Given the description of an element on the screen output the (x, y) to click on. 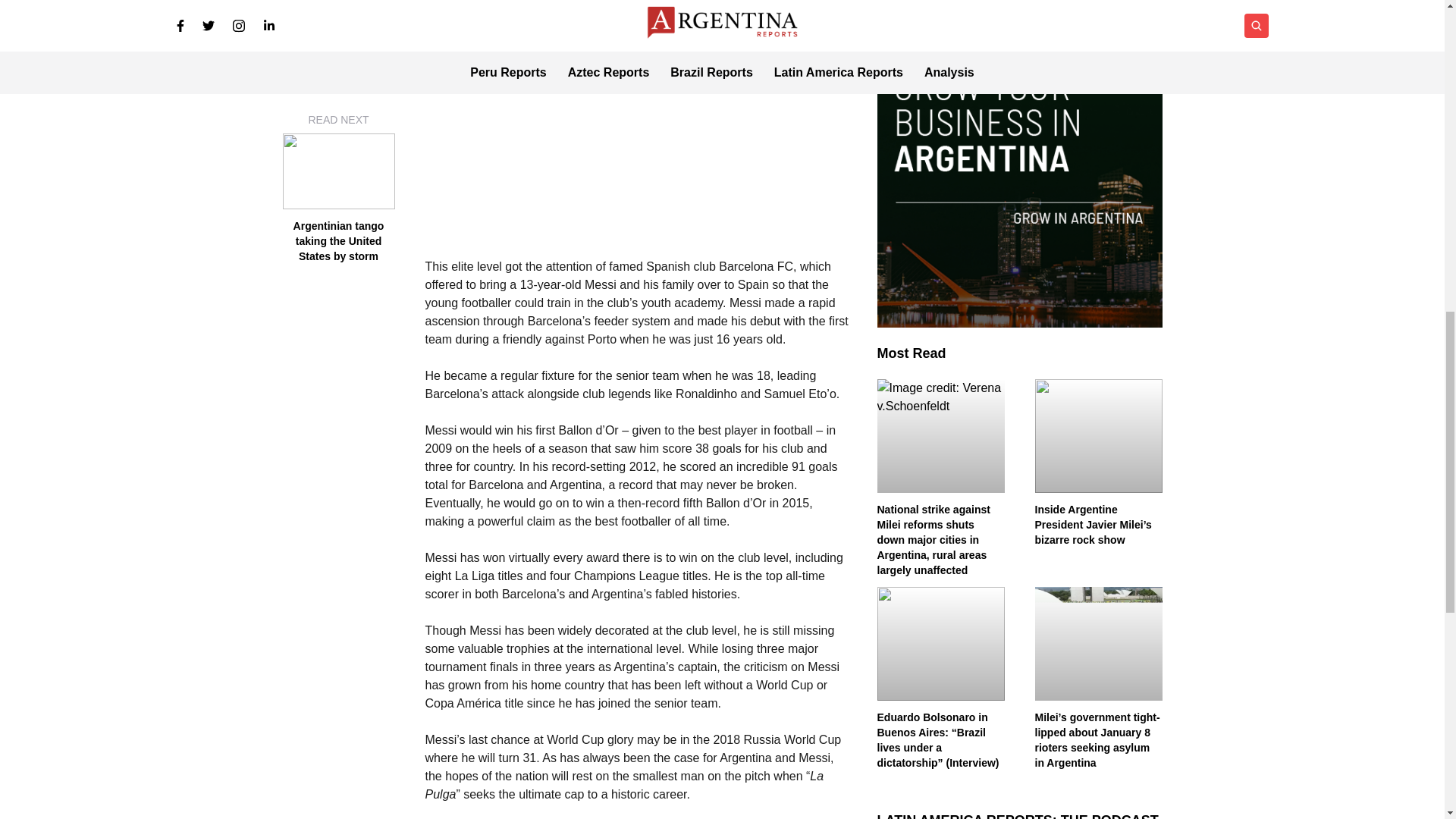
Argentinian tango taking the United States by storm (339, 43)
